Given the description of an element on the screen output the (x, y) to click on. 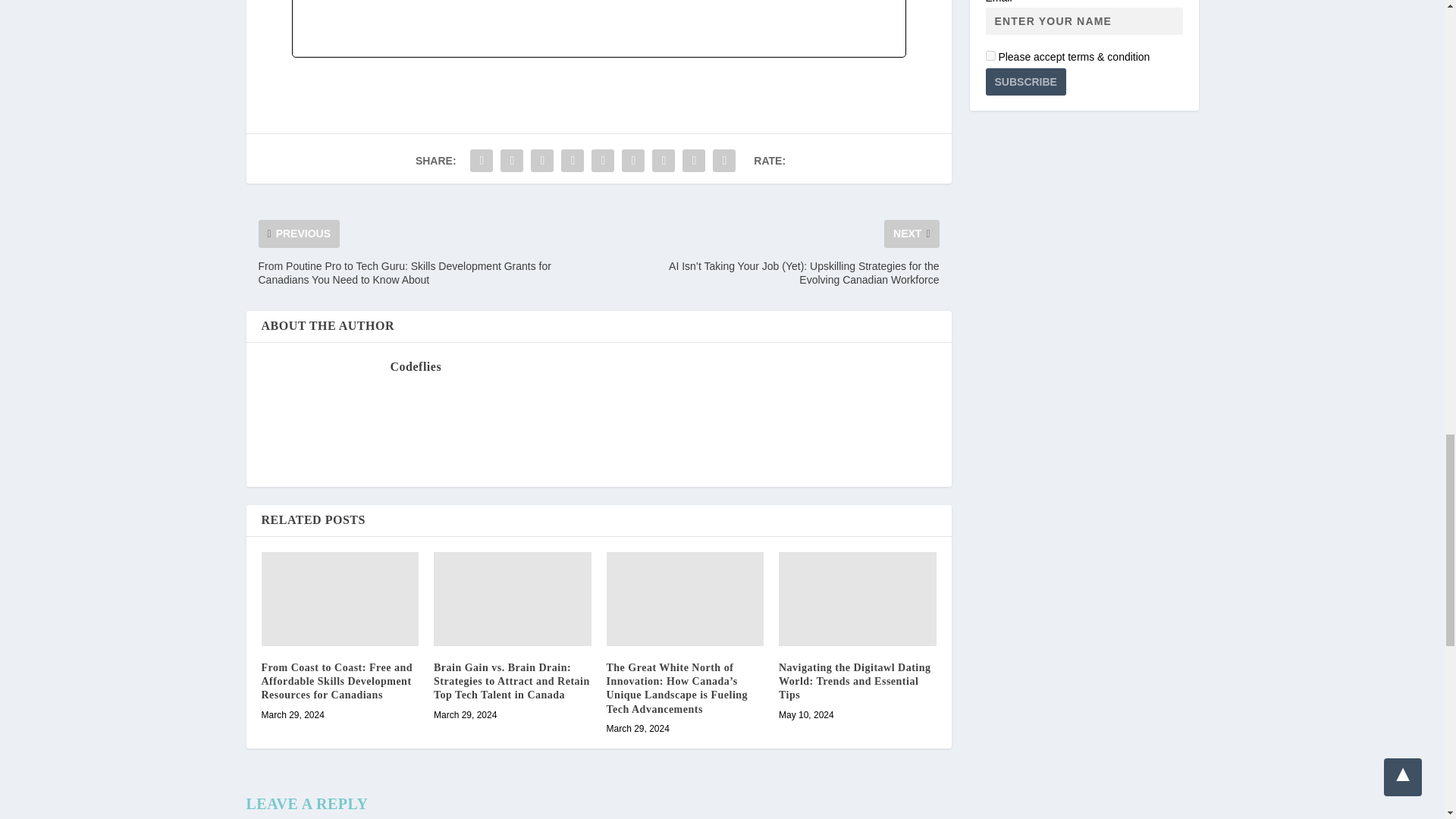
Subscribe (1025, 81)
true (990, 55)
